Given the description of an element on the screen output the (x, y) to click on. 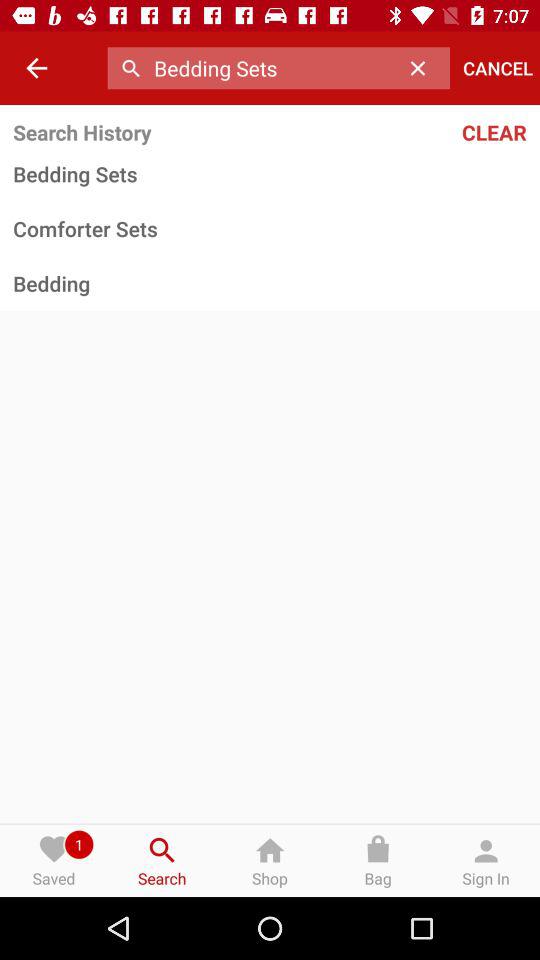
press item to the left of cancel icon (423, 67)
